Given the description of an element on the screen output the (x, y) to click on. 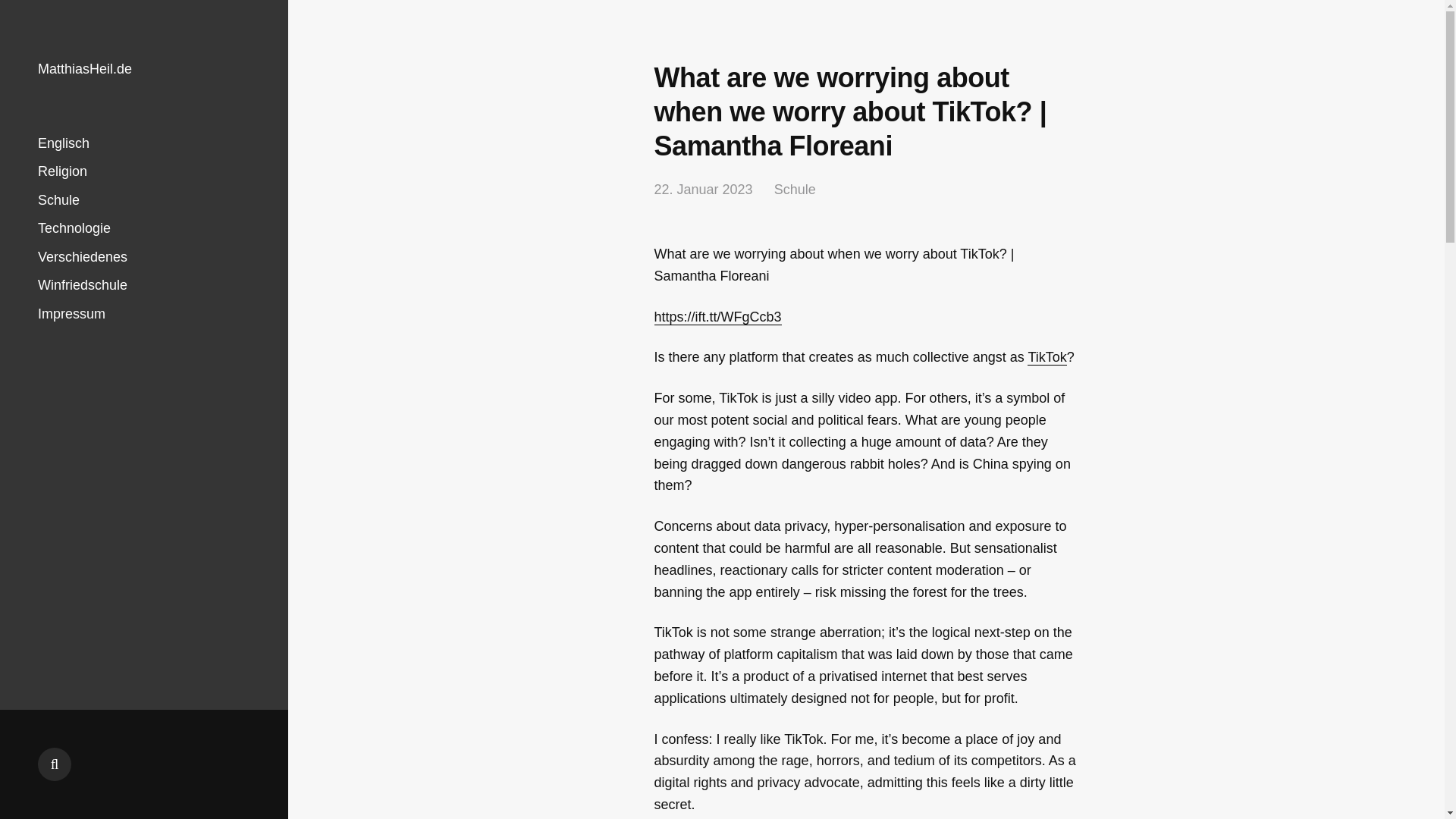
TikTok (1046, 357)
22. Januar 2023 (702, 189)
Englisch (62, 142)
Schule (58, 200)
Technologie (73, 228)
Schule (794, 189)
MatthiasHeil.de (84, 68)
Verschiedenes (82, 256)
Impressum (70, 314)
Religion (62, 171)
